Given the description of an element on the screen output the (x, y) to click on. 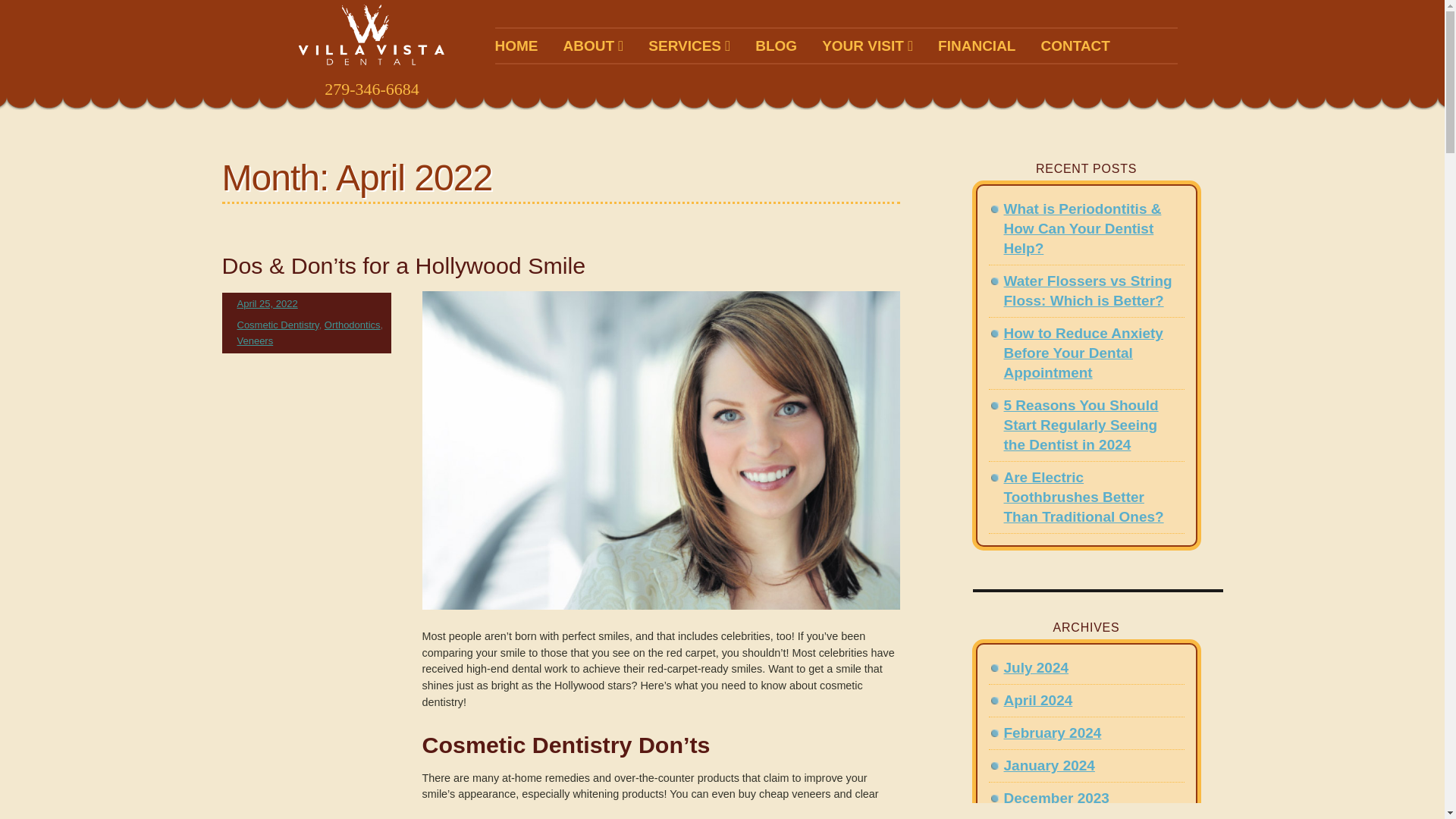
279-346-6684 (371, 89)
279-346-6684 (371, 89)
YOUR VISIT (867, 45)
FINANCIAL (975, 45)
CONTACT (1075, 45)
BLOG (775, 45)
SERVICES (688, 45)
ABOUT (592, 45)
HOME (516, 45)
